Given the description of an element on the screen output the (x, y) to click on. 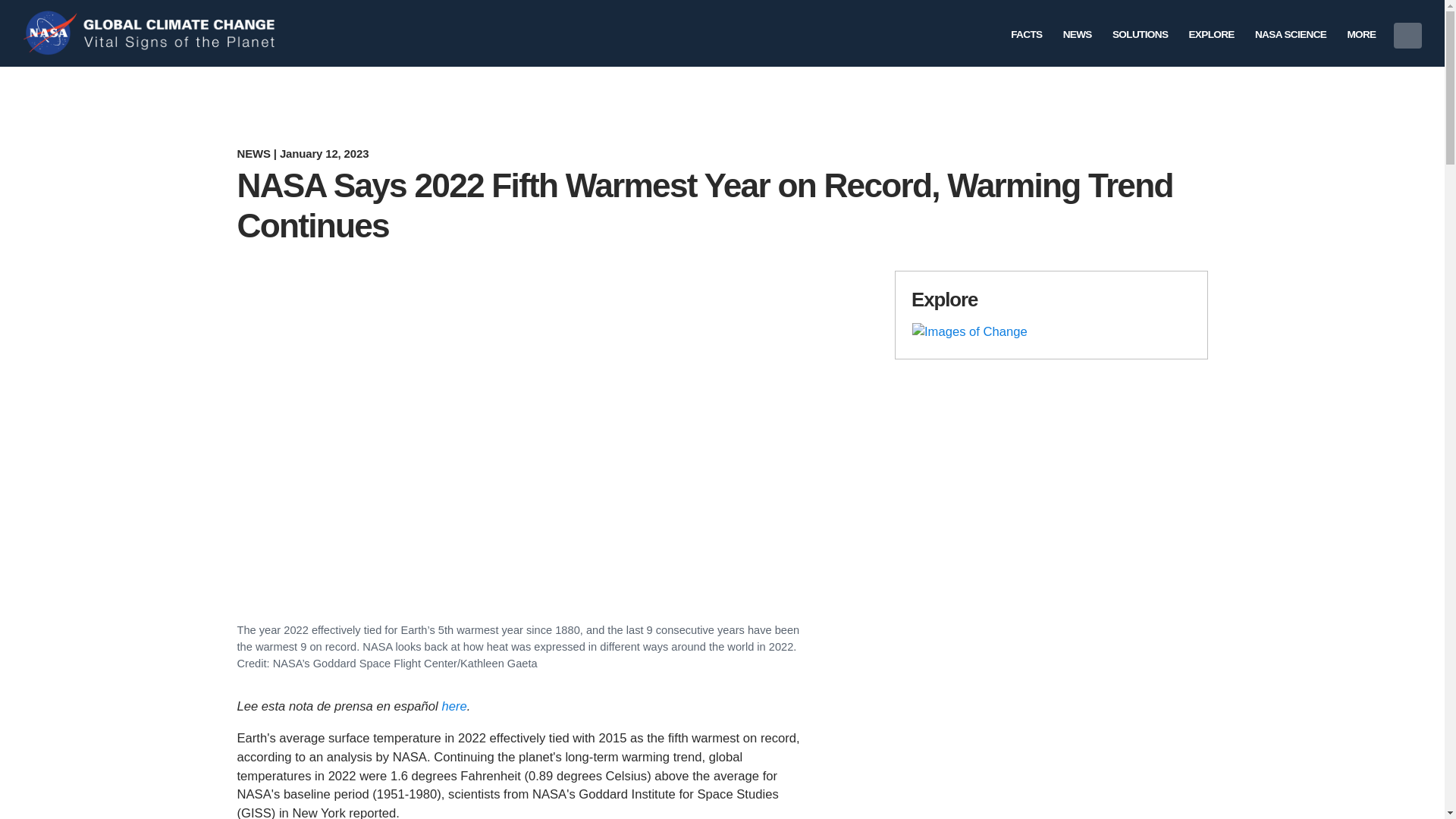
Global Climate Change (182, 33)
visit nasa.gov (51, 33)
FACTS (1026, 31)
NASA (51, 33)
Home (182, 33)
